Given the description of an element on the screen output the (x, y) to click on. 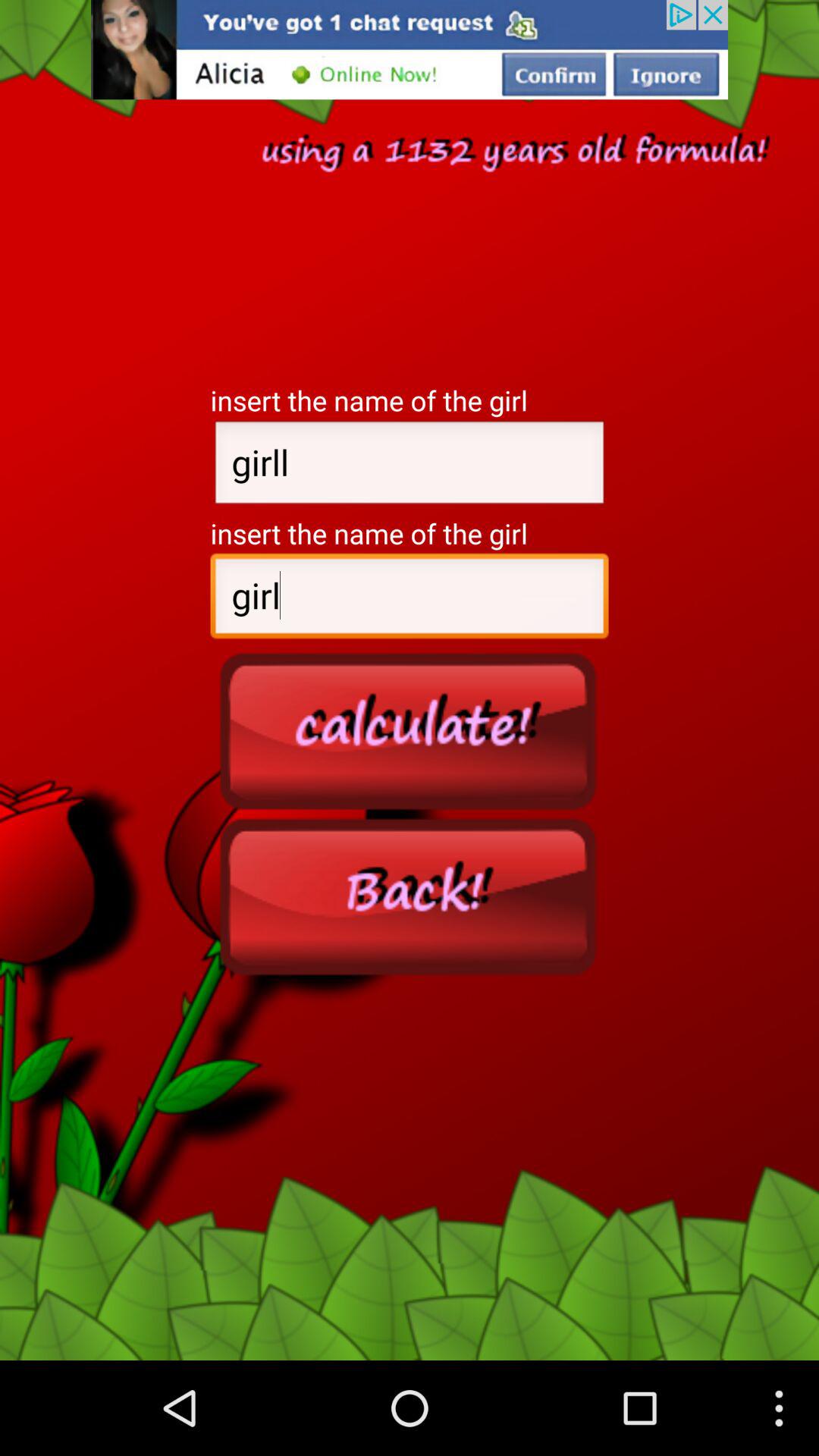
calculate (409, 730)
